Given the description of an element on the screen output the (x, y) to click on. 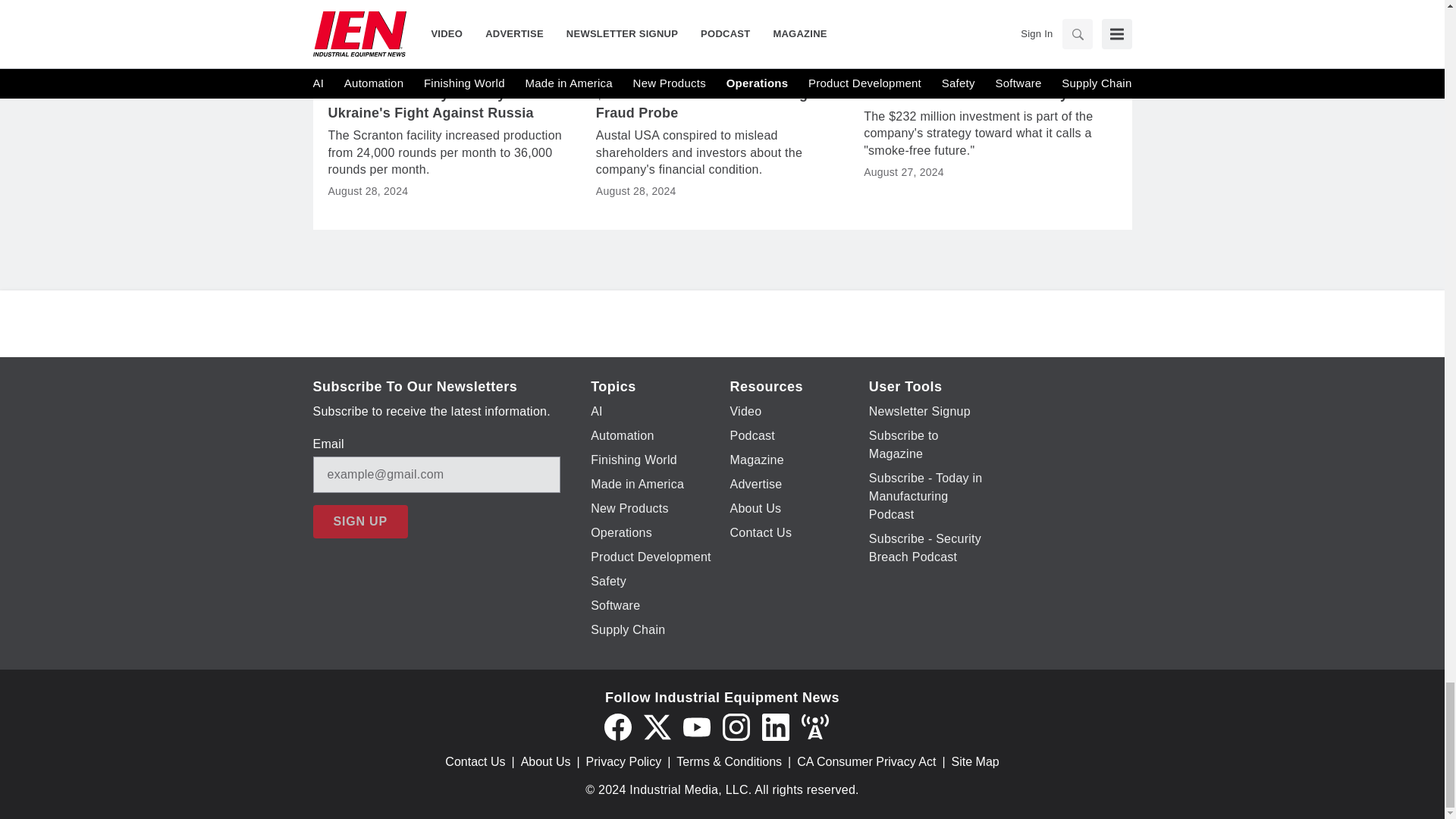
Facebook icon (617, 727)
Instagram icon (735, 727)
LinkedIn icon (775, 727)
YouTube icon (696, 727)
Twitter X icon (656, 727)
